Given the description of an element on the screen output the (x, y) to click on. 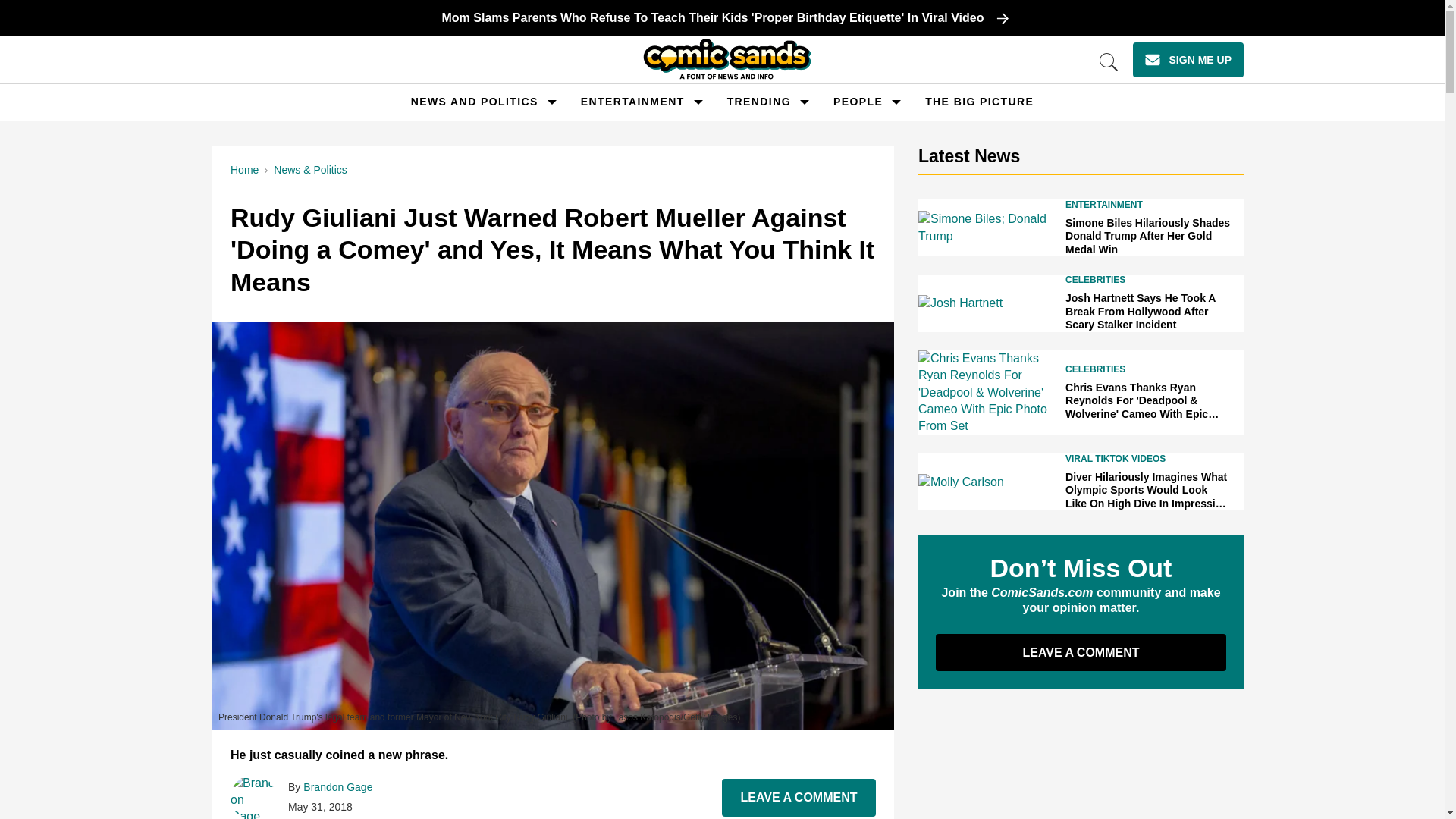
SIGN ME UP (1187, 59)
Open Search (1108, 61)
NEWS AND POLITICS (474, 101)
Open Search (1108, 61)
